Given the description of an element on the screen output the (x, y) to click on. 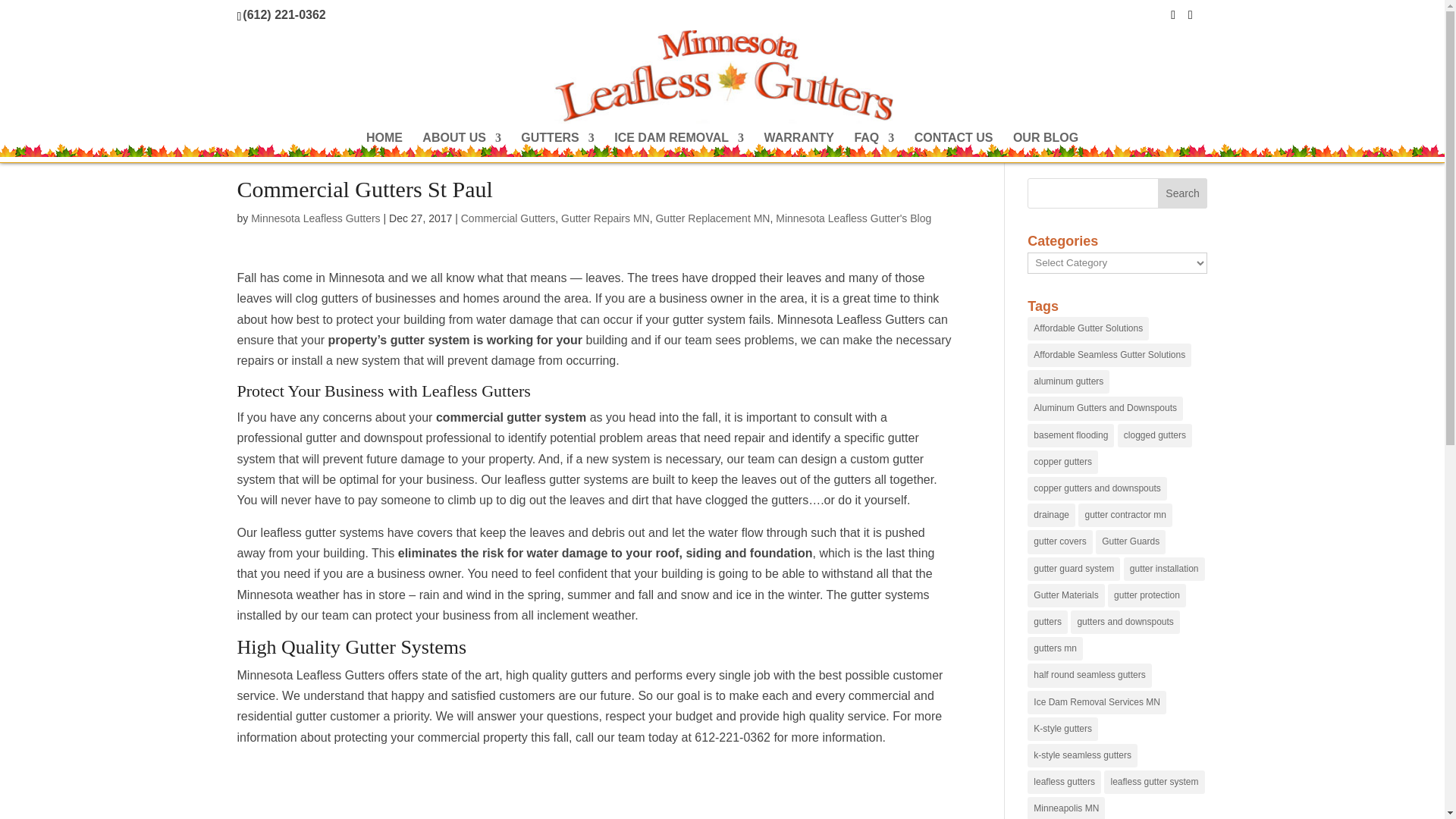
gutter contractor mn (1125, 515)
OUR BLOG (1045, 147)
gutter covers (1059, 541)
copper gutters (1062, 462)
Minnesota Leafless Gutter's Blog (853, 218)
Minnesota Leafless Gutters (315, 218)
Posts by Minnesota Leafless Gutters (315, 218)
ABOUT US (461, 147)
ICE DAM REMOVAL (679, 147)
CONTACT US (953, 147)
copper gutters and downspouts (1096, 488)
GUTTERS (557, 147)
aluminum gutters (1068, 381)
Search (1182, 193)
Gutter Repairs MN (604, 218)
